Given the description of an element on the screen output the (x, y) to click on. 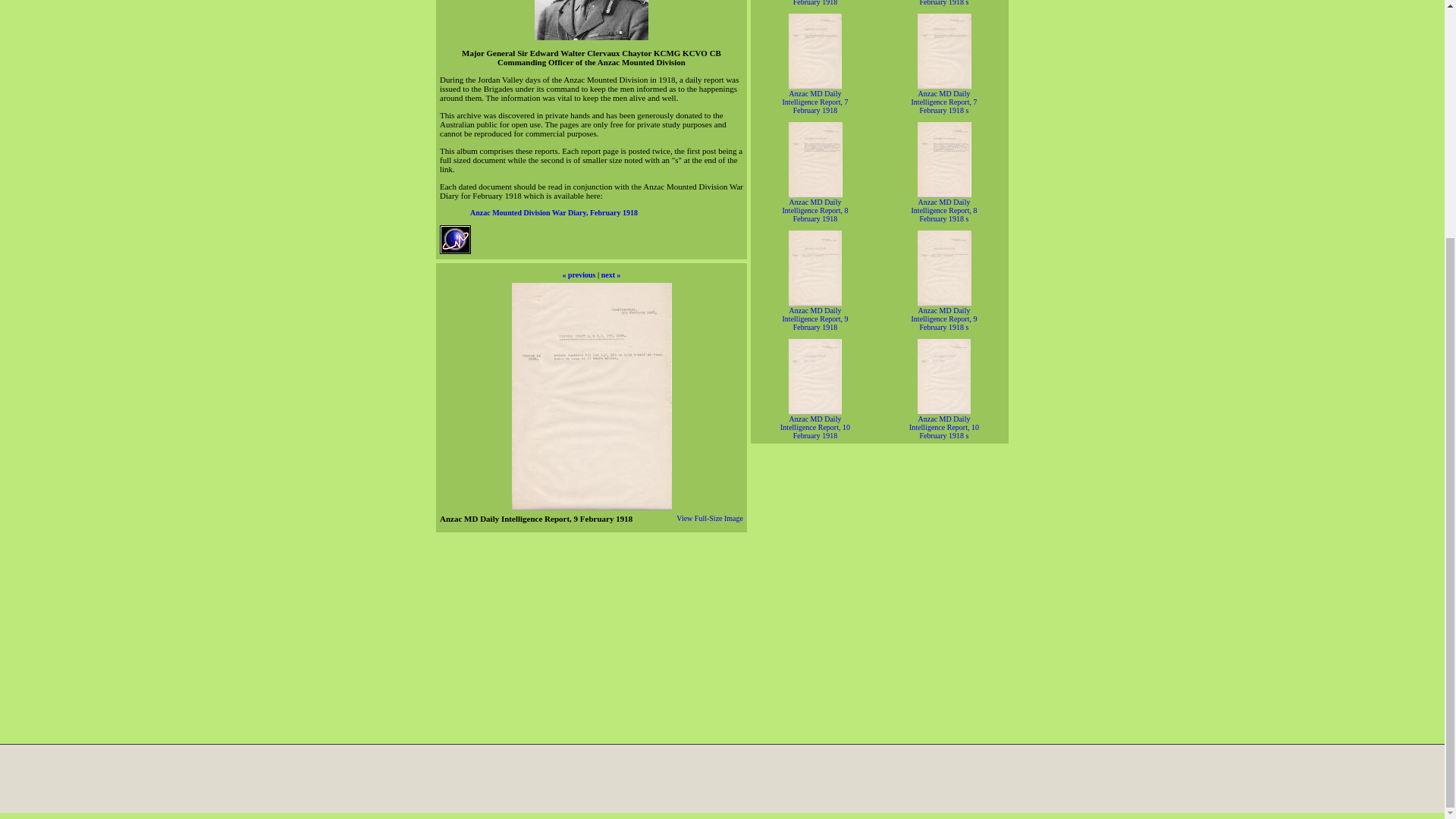
Anzac MD Daily Intelligence Report, 6 February 1918 (815, 2)
Anzac MD Daily Intelligence Report, 9 February 1918 s (943, 318)
View Full-Size Image (709, 518)
Anzac MD Daily Intelligence Report, 7 February 1918 s (943, 101)
Anzac MD Daily Intelligence Report, 10 February 1918 (815, 426)
Anzac Mounted Division War Diary, February 1918 (553, 212)
Anzac MD Daily Intelligence Report, 9 February 1918 (815, 318)
Anzac MD Daily Intelligence Report, 8 February 1918 s (943, 210)
Anzac MD Daily Intelligence Report, 6 February 1918 s (943, 2)
Anzac MD Daily Intelligence Report, 10 February 1918 s (943, 426)
Anzac MD Daily Intelligence Report, 7 February 1918 (815, 101)
Anzac MD Daily Intelligence Report, 8 February 1918 (815, 210)
